Given the description of an element on the screen output the (x, y) to click on. 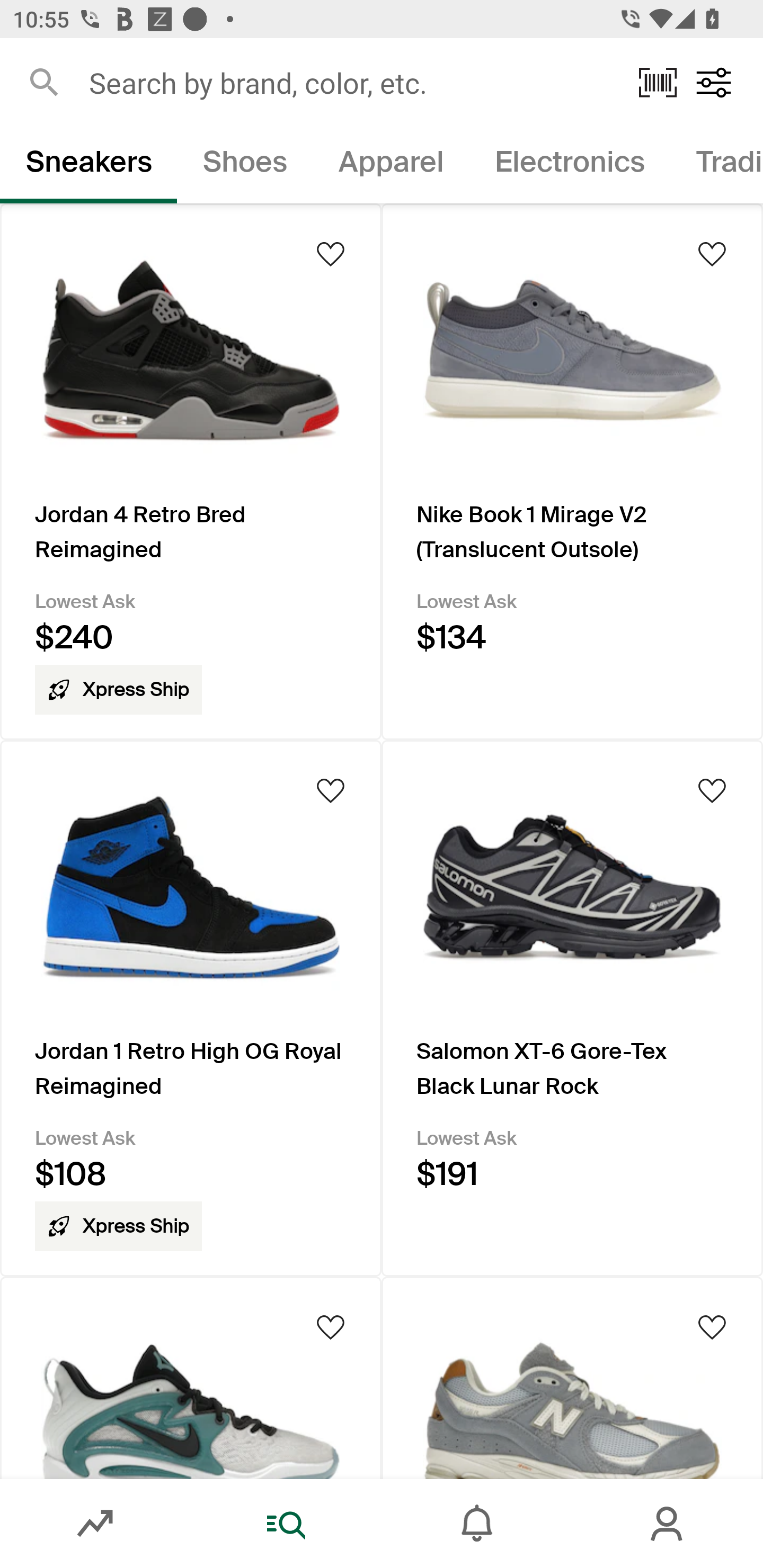
Search by brand, color, etc. (351, 82)
Shoes (244, 165)
Apparel (390, 165)
Electronics (569, 165)
Product Image (190, 1377)
Product Image (572, 1377)
Market (95, 1523)
Inbox (476, 1523)
Account (667, 1523)
